Given the description of an element on the screen output the (x, y) to click on. 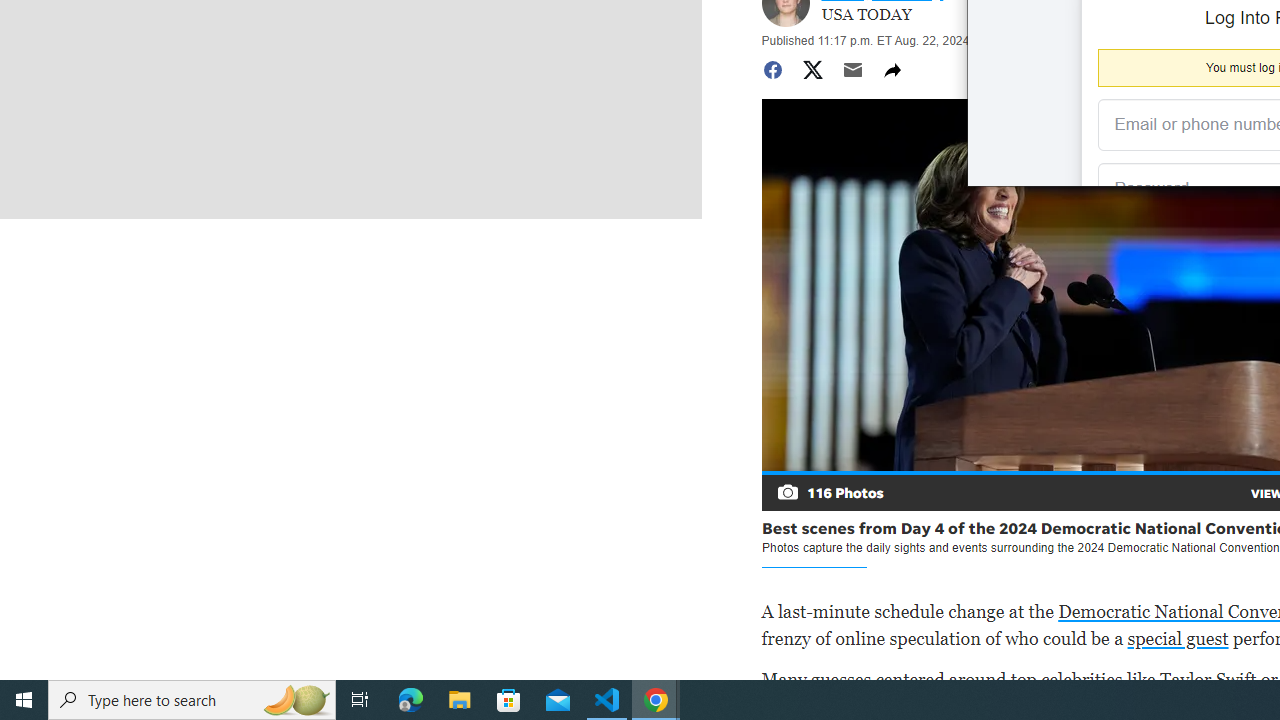
Microsoft Store (509, 699)
Start (24, 699)
